Given the description of an element on the screen output the (x, y) to click on. 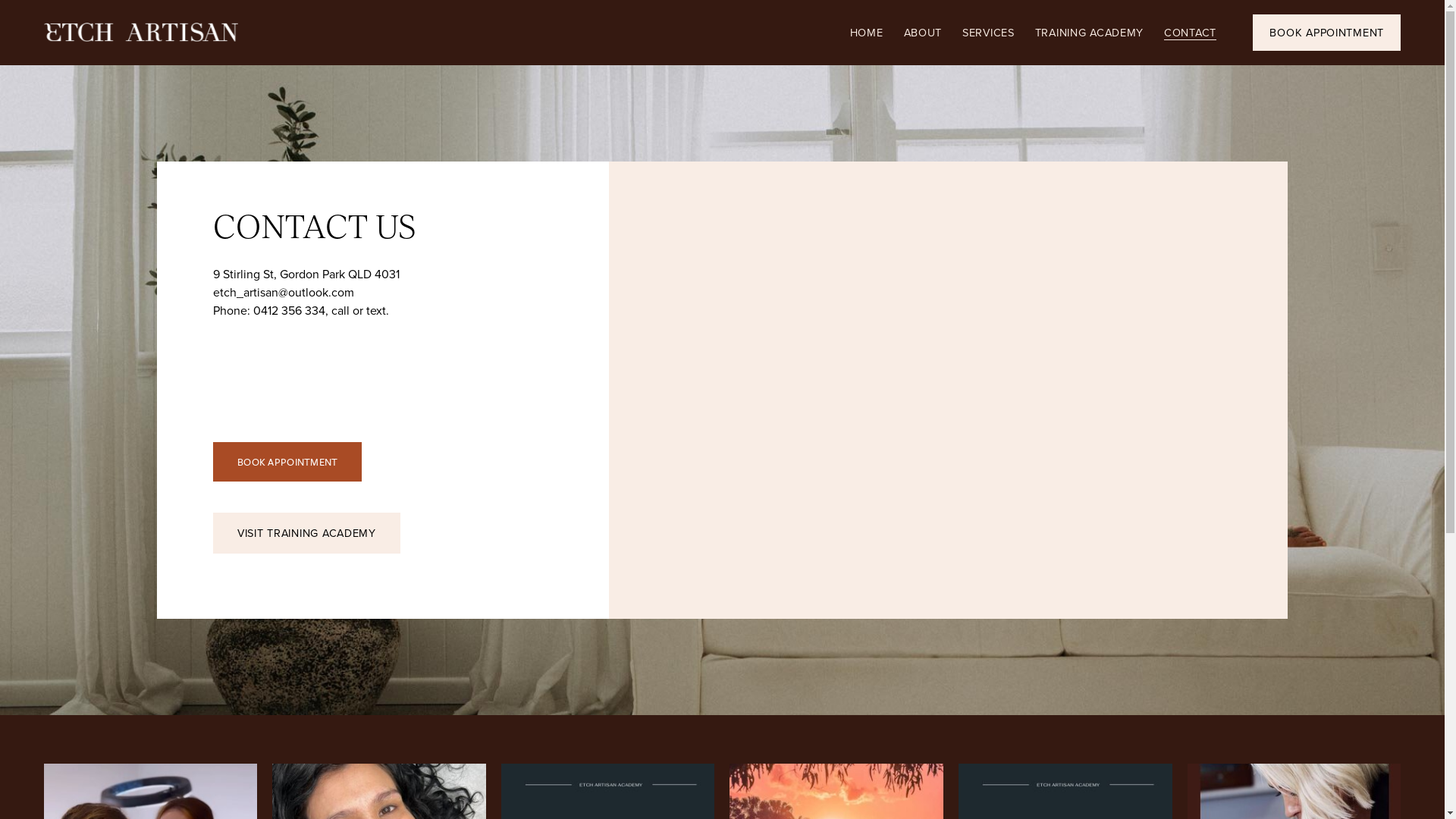
BOOK APPOINTMENT Element type: text (287, 461)
VISIT TRAINING ACADEMY Element type: text (306, 532)
TRAINING ACADEMY Element type: text (1089, 31)
SERVICES Element type: text (988, 31)
HOME Element type: text (866, 31)
etch_artisan@outlook.com Element type: text (283, 292)
0412 356 334 Element type: text (289, 310)
ABOUT Element type: text (922, 31)
CONTACT Element type: text (1190, 31)
BOOK APPOINTMENT Element type: text (1326, 32)
